Given the description of an element on the screen output the (x, y) to click on. 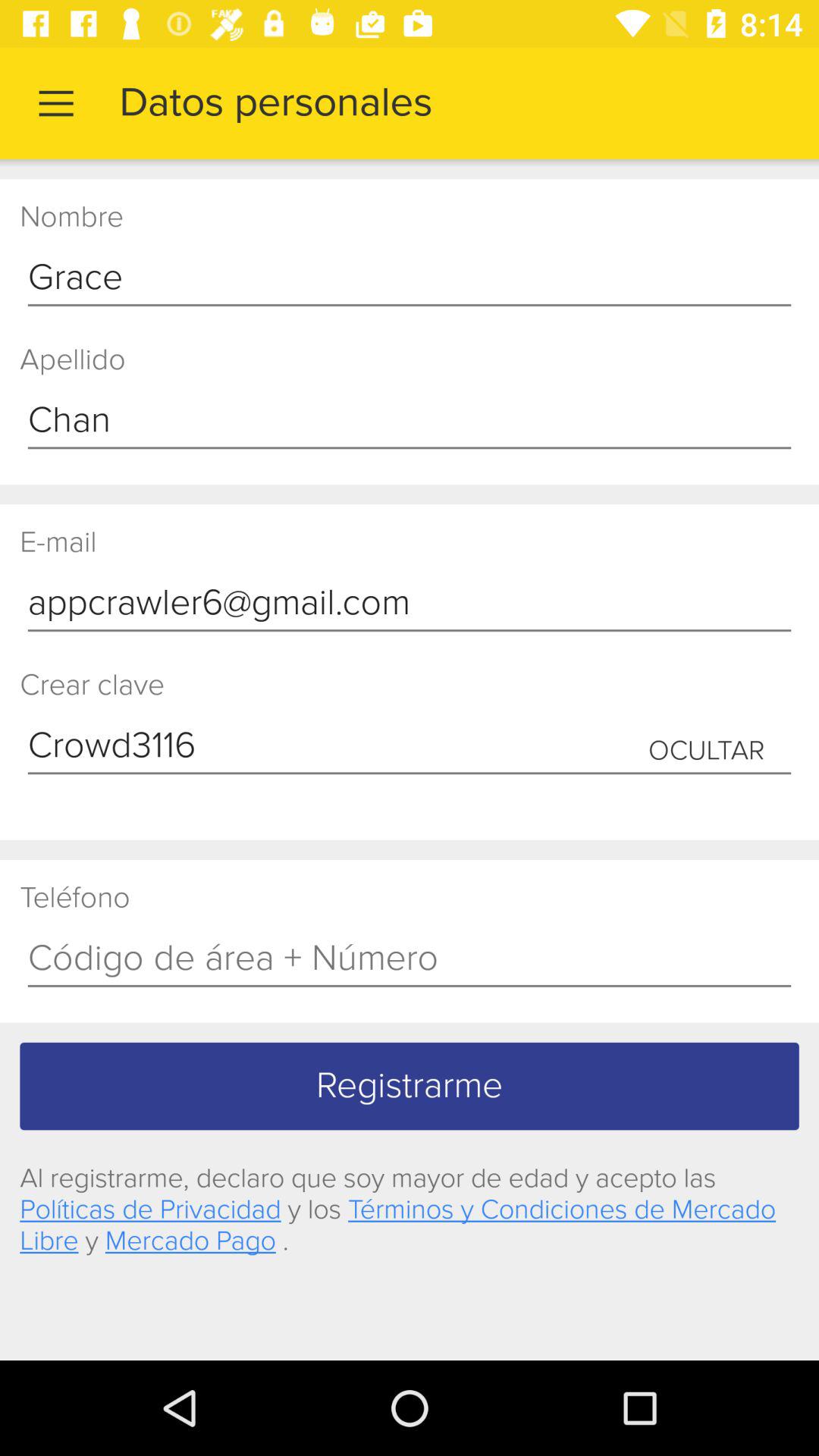
tap item to the left of datos personales app (55, 103)
